Given the description of an element on the screen output the (x, y) to click on. 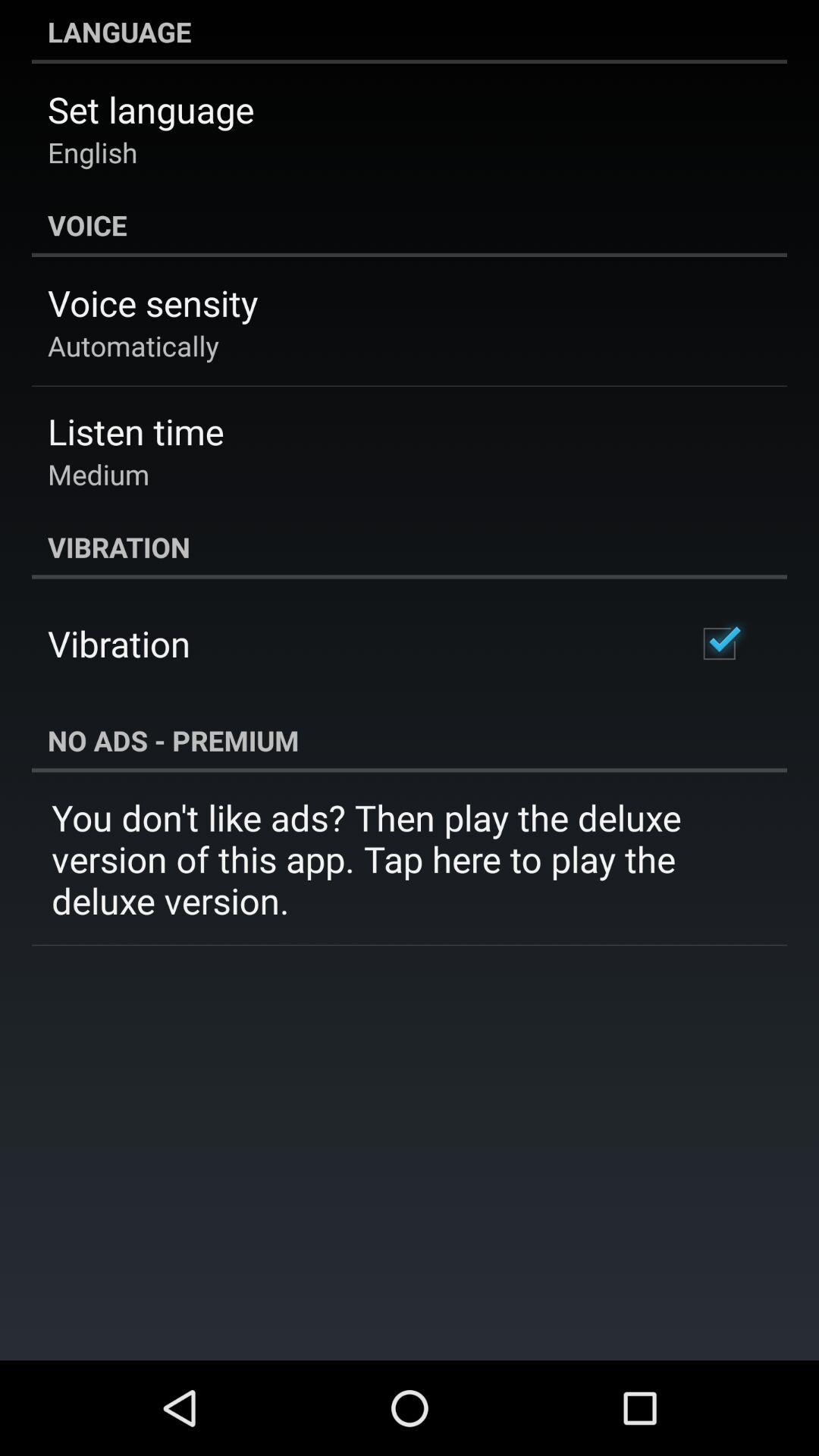
open icon above medium icon (135, 431)
